Given the description of an element on the screen output the (x, y) to click on. 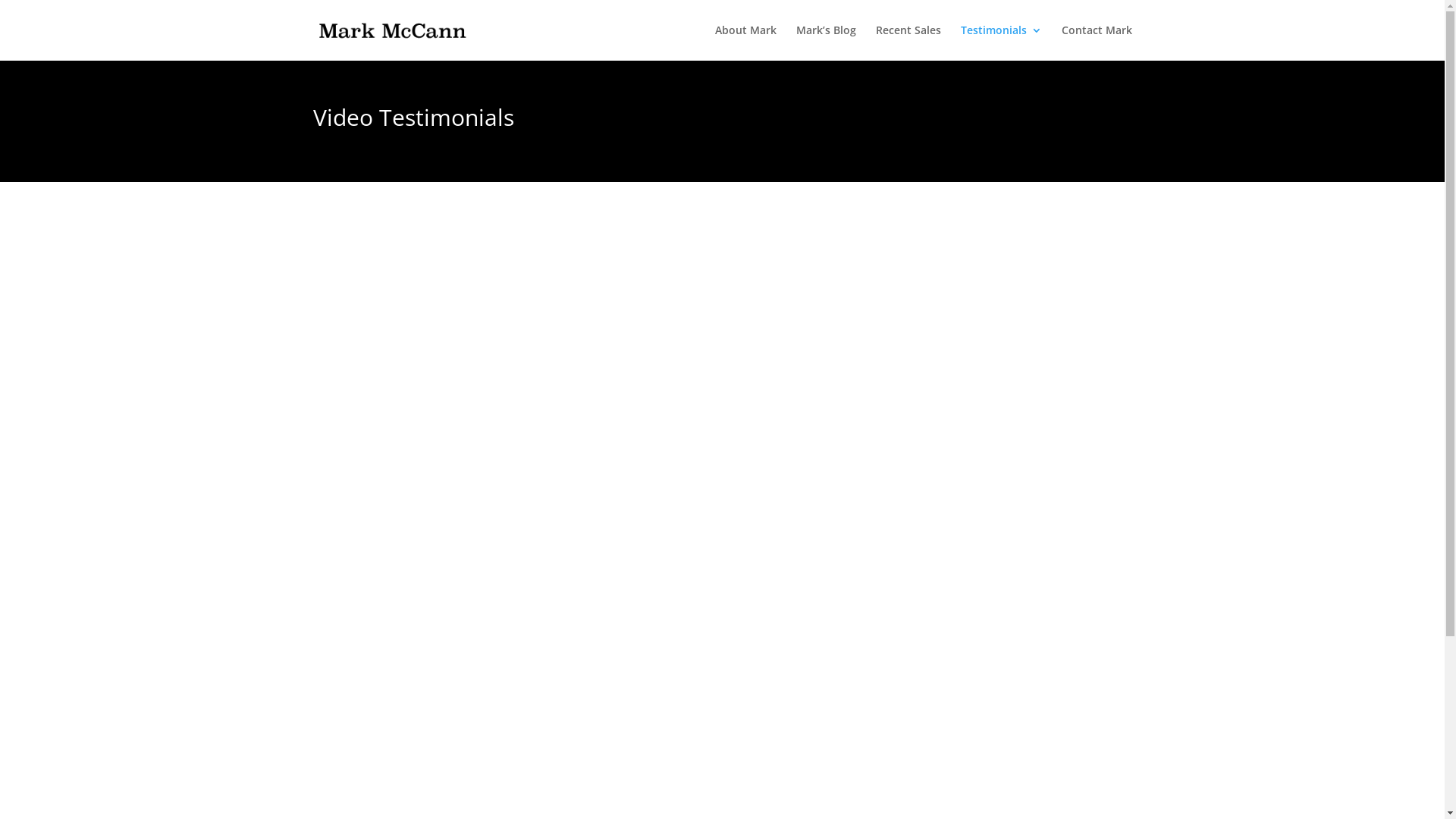
About Mark Element type: text (744, 42)
Contact Mark Element type: text (1096, 42)
Recent Sales Element type: text (907, 42)
Testimonials Element type: text (1000, 42)
